Given the description of an element on the screen output the (x, y) to click on. 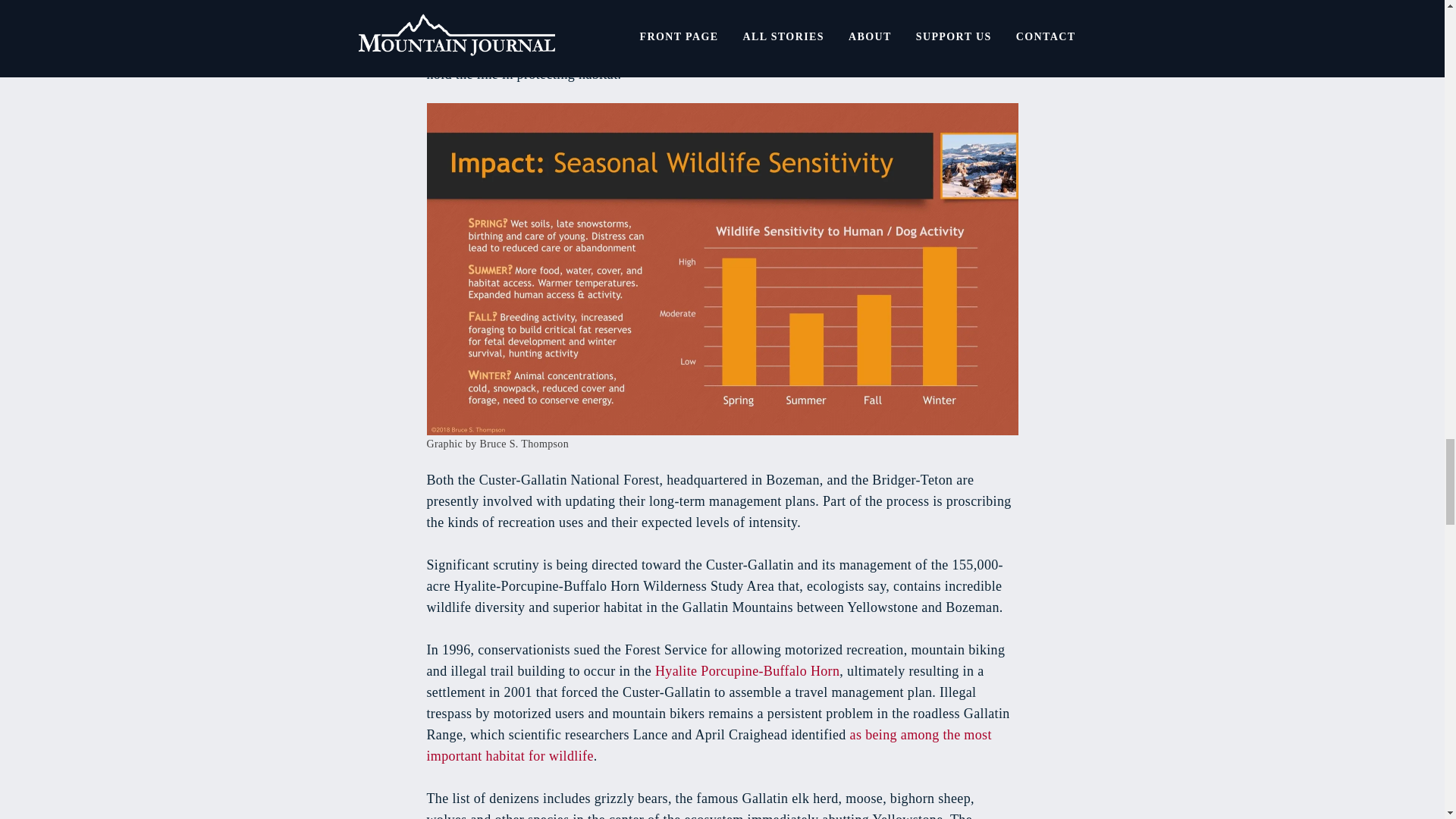
Hyalite Porcupine-Buffalo Horn (747, 670)
as being among the most important habitat for wildlife (708, 745)
